Given the description of an element on the screen output the (x, y) to click on. 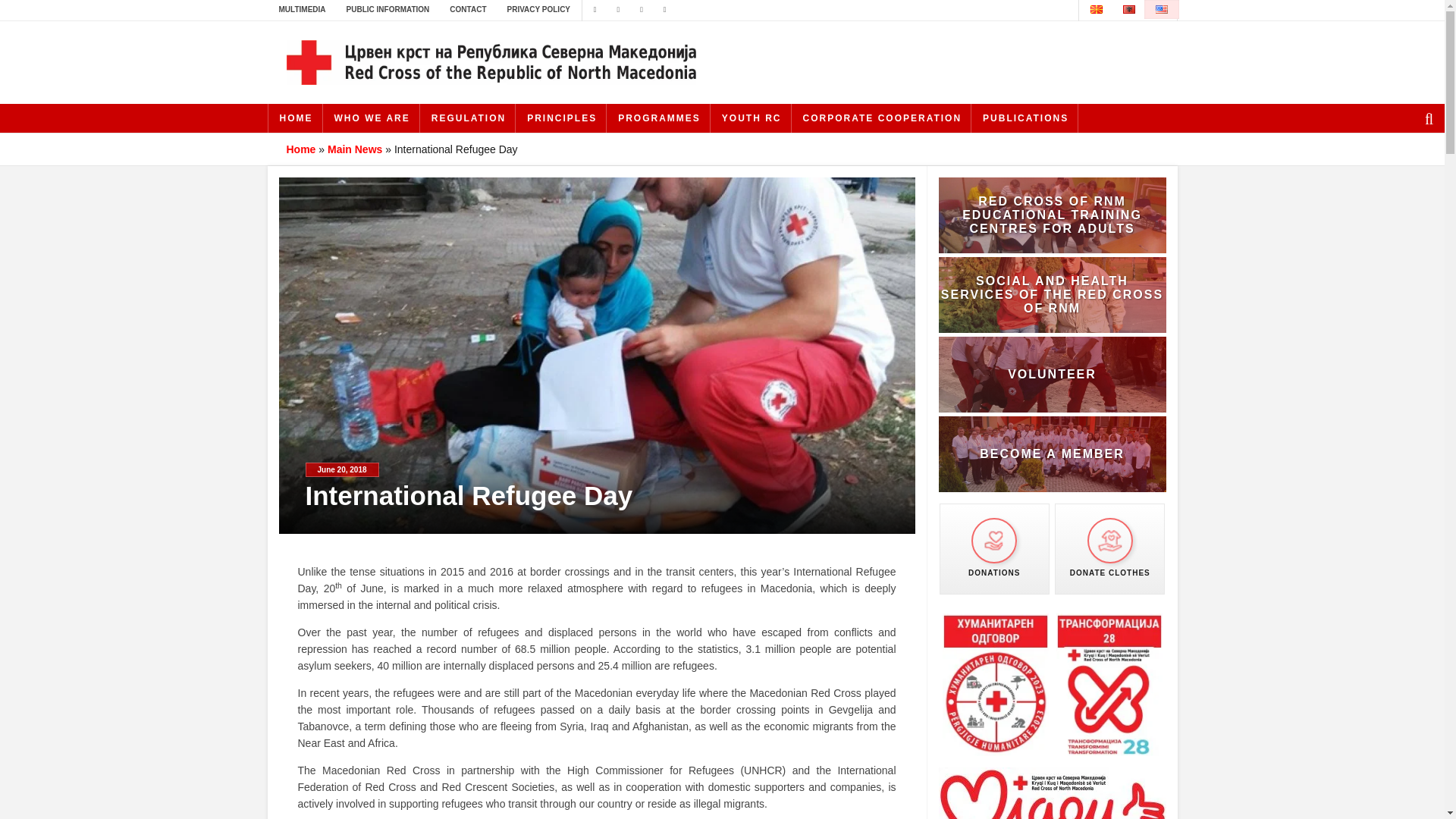
CONTACT (467, 9)
PRIVACY POLICY (537, 9)
REGULATION (468, 118)
PUBLIC INFORMATION (387, 9)
MULTIMEDIA (301, 9)
WHO WE ARE (372, 118)
HOME (295, 118)
